Given the description of an element on the screen output the (x, y) to click on. 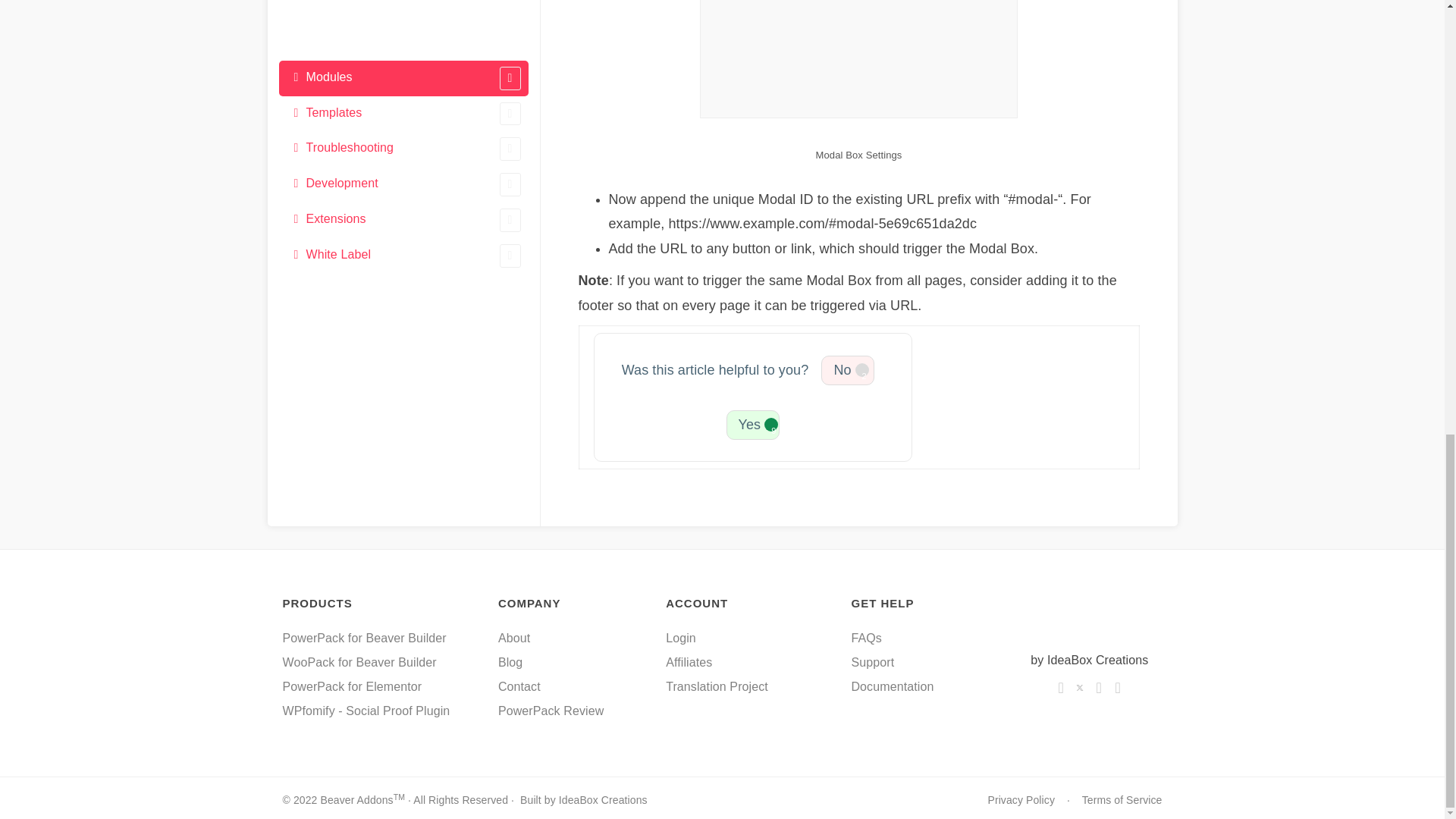
Facebook (1060, 687)
2 persons found this not useful (848, 369)
9 persons found this useful (752, 424)
beaver-addons-logo (1088, 617)
